Given the description of an element on the screen output the (x, y) to click on. 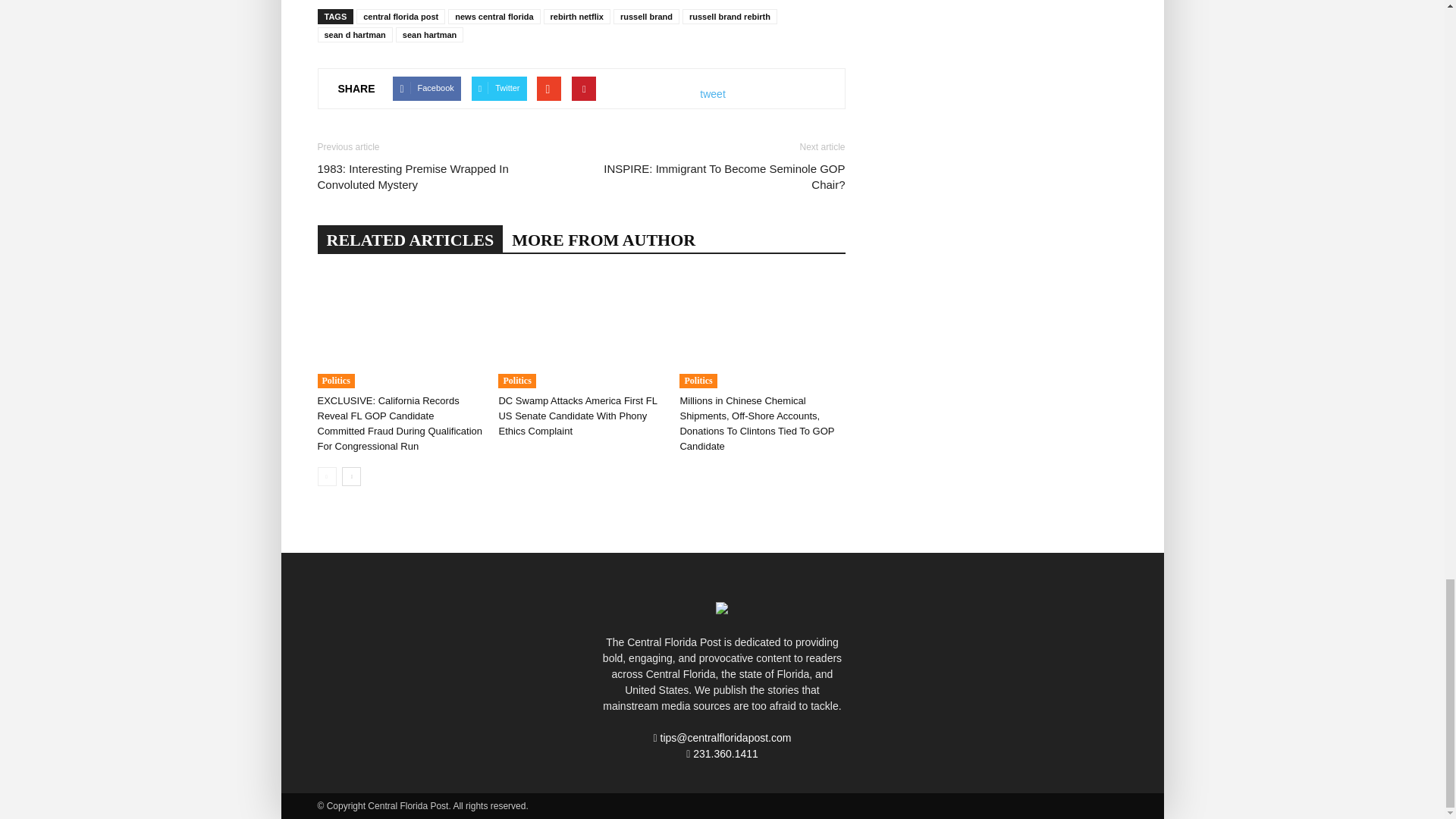
central florida post (400, 16)
russell brand (645, 16)
news central florida (494, 16)
rebirth netflix (576, 16)
